Given the description of an element on the screen output the (x, y) to click on. 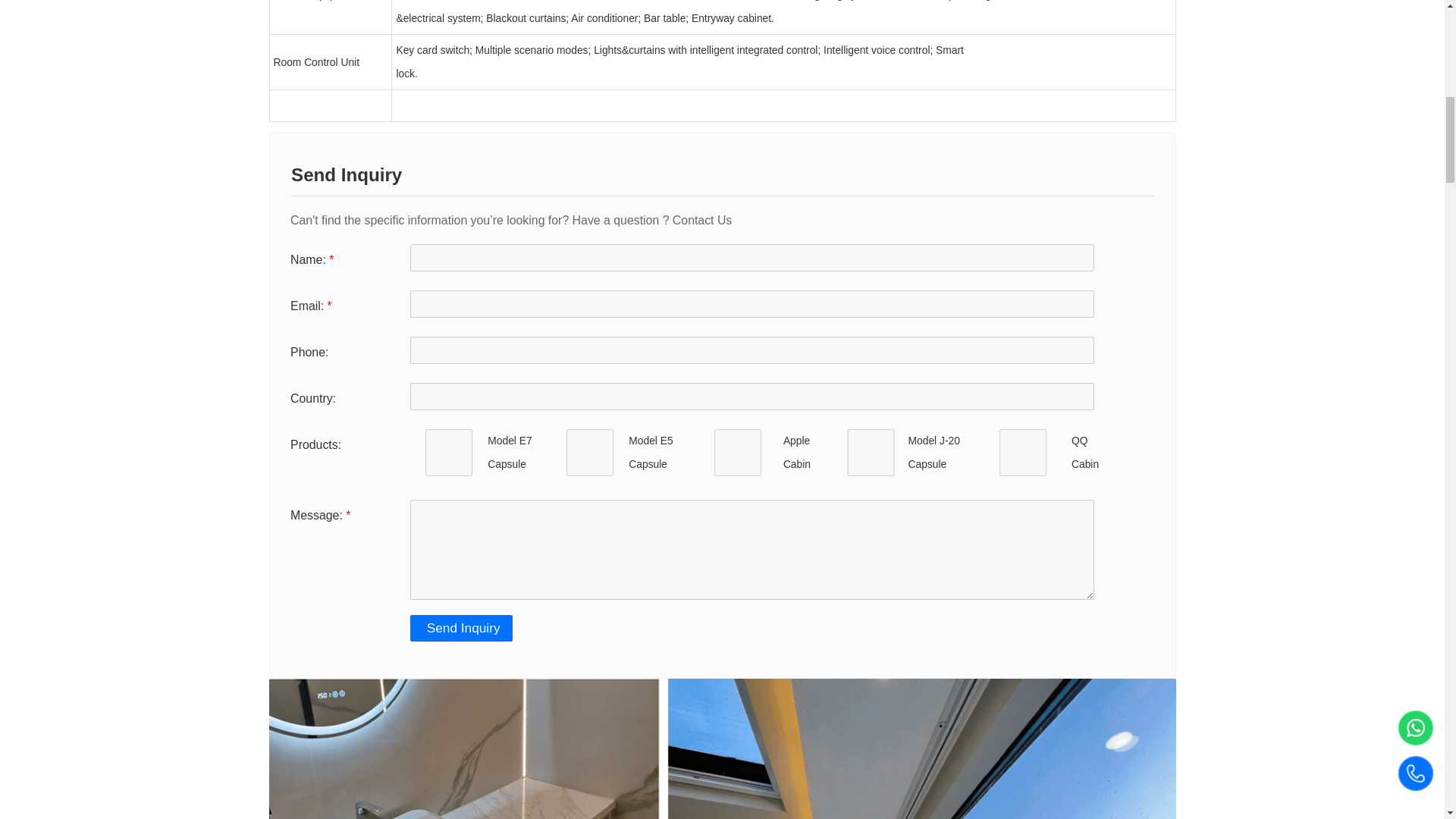
SAFETY CANS (448, 452)
SPILL CONTAINMENT (738, 452)
POLY DRUMS (869, 452)
MATERIAL HANDLING (1022, 452)
 Send Inquiry  (461, 628)
SAFETY CABINETS (589, 452)
 Send Inquiry  (461, 628)
